Given the description of an element on the screen output the (x, y) to click on. 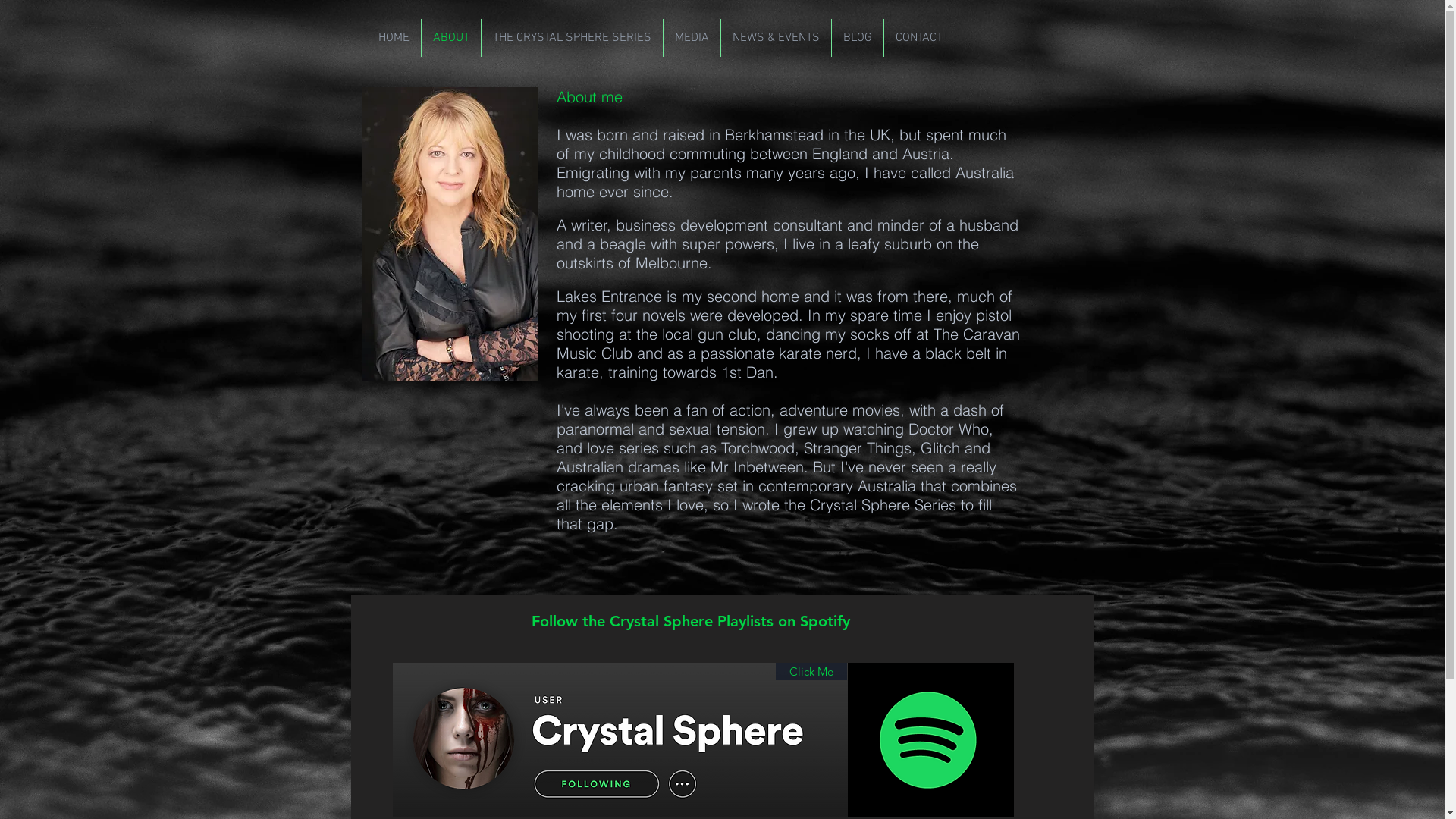
MEDIA Element type: text (690, 37)
Click to go to Spotify Playlist Element type: hover (930, 739)
Click to follow Crystal Sphere Playlists Element type: hover (619, 739)
HOME Element type: text (393, 37)
THE CRYSTAL SPHERE SERIES Element type: text (571, 37)
ABOUT Element type: text (450, 37)
NEWS & EVENTS Element type: text (775, 37)
CONTACT Element type: text (918, 37)
Click Me Element type: text (810, 671)
BLOG Element type: text (856, 37)
